Given the description of an element on the screen output the (x, y) to click on. 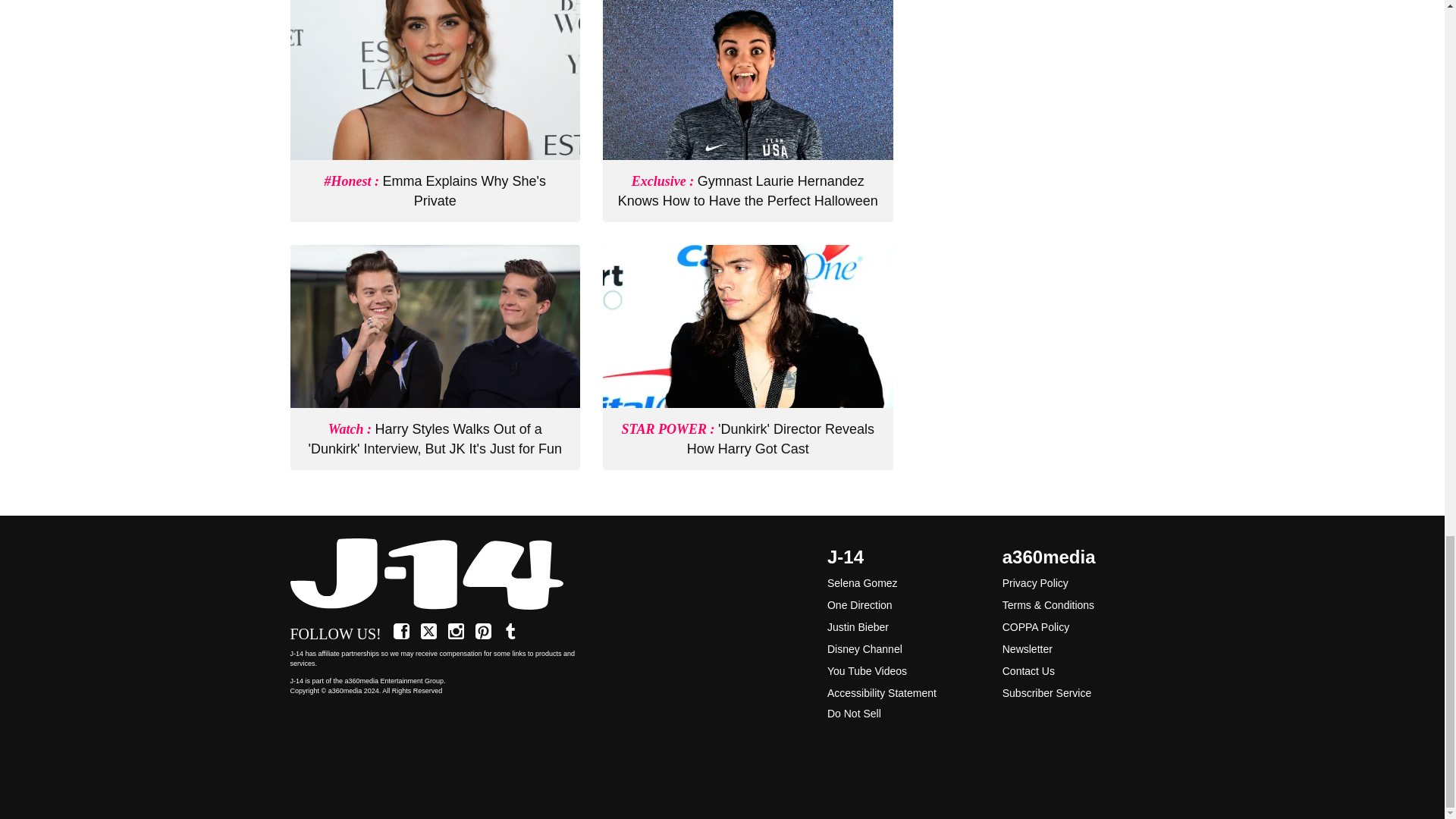
Home (434, 574)
Selena Gomez (862, 582)
STAR POWER 'Dunkirk' Director Reveals How Harry Got Cast (748, 438)
One Direction (859, 604)
